Given the description of an element on the screen output the (x, y) to click on. 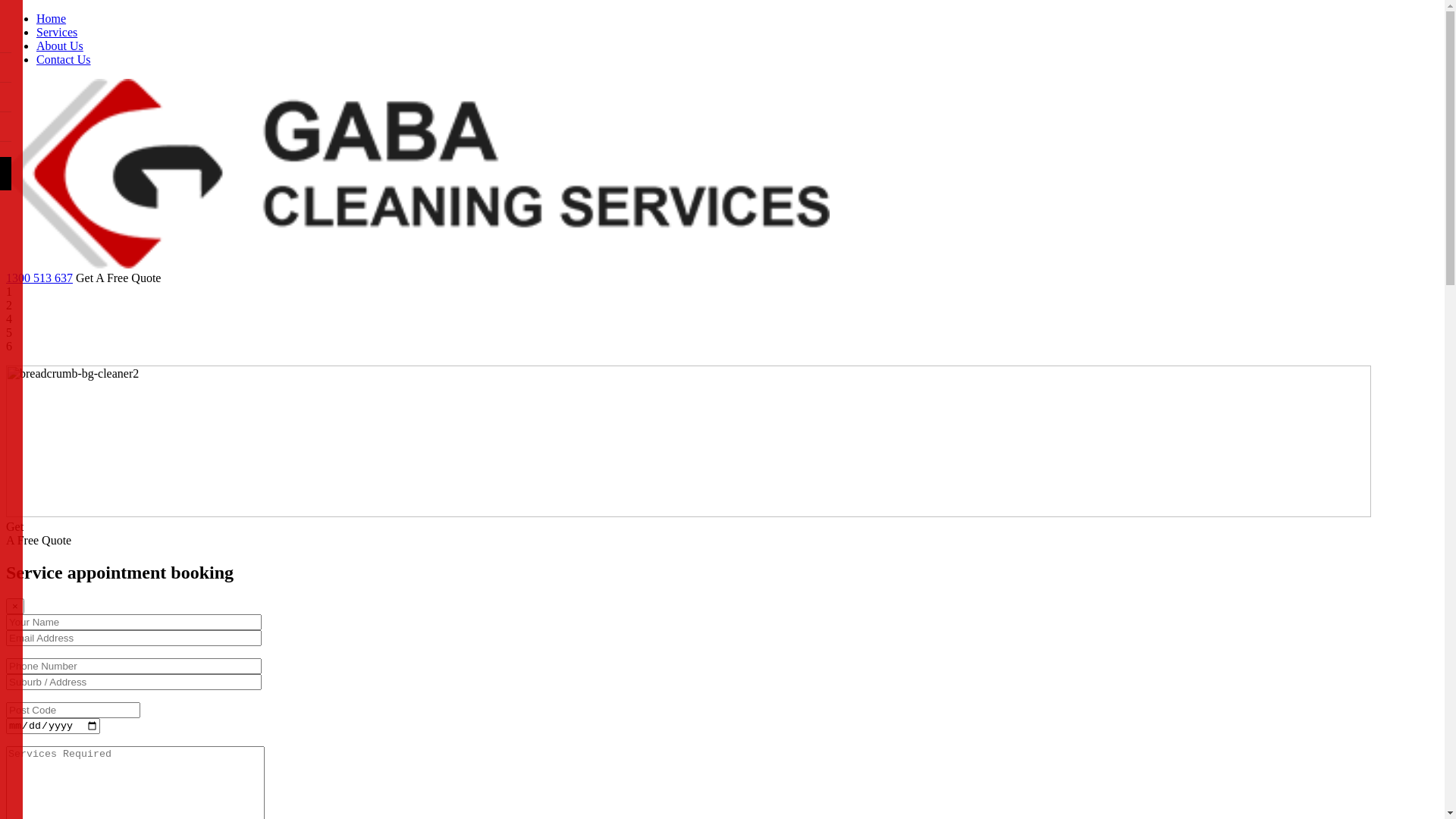
breadcrumb-bg-cleaner2 Element type: hover (688, 441)
Get A Free Quote Element type: text (117, 277)
1300 513 637 Element type: text (39, 277)
Contact Us Element type: text (63, 59)
About Us Element type: text (59, 45)
Home Element type: text (50, 18)
Services Element type: text (56, 31)
